Given the description of an element on the screen output the (x, y) to click on. 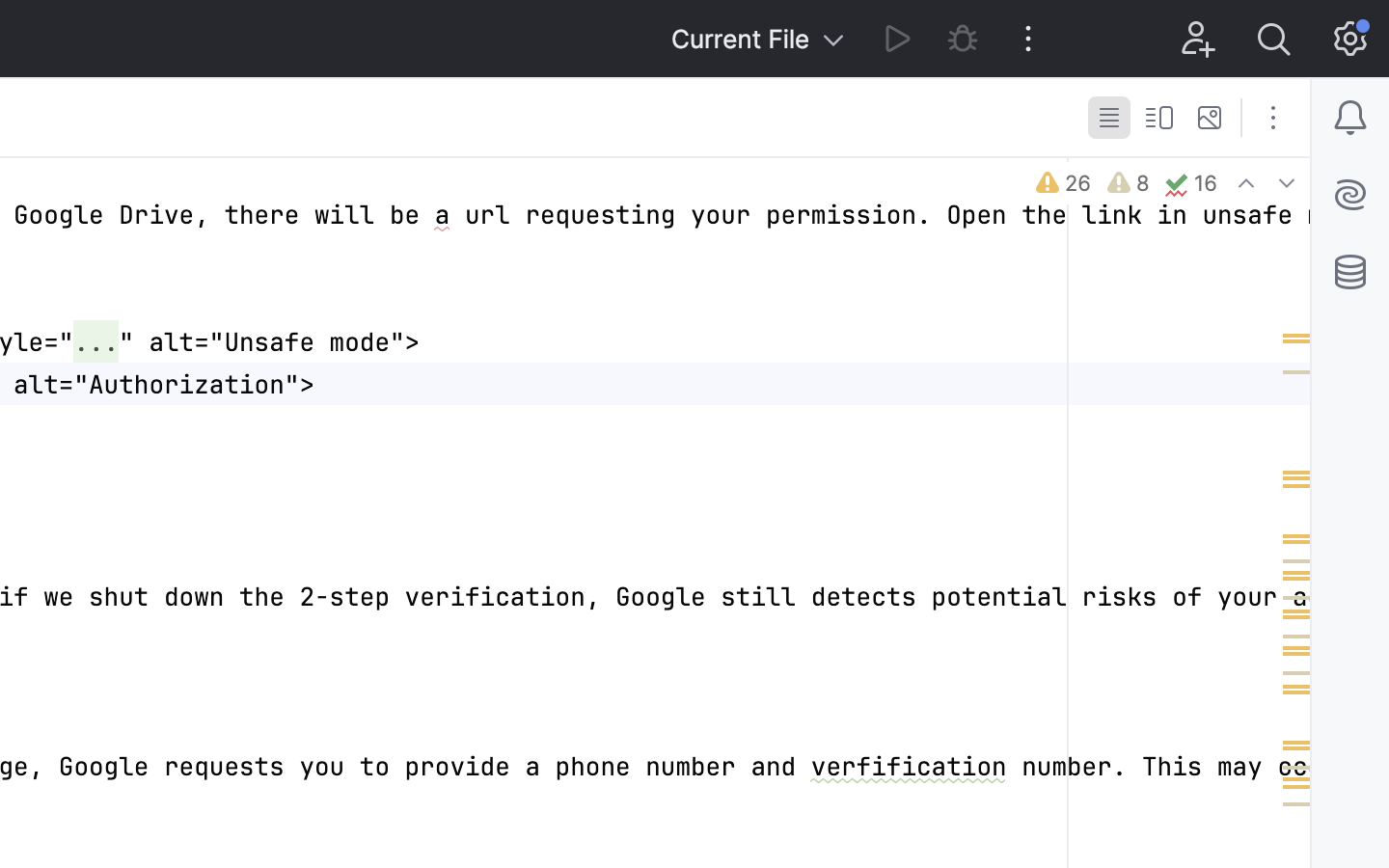
8 Element type: AXStaticText (1126, 182)
